Given the description of an element on the screen output the (x, y) to click on. 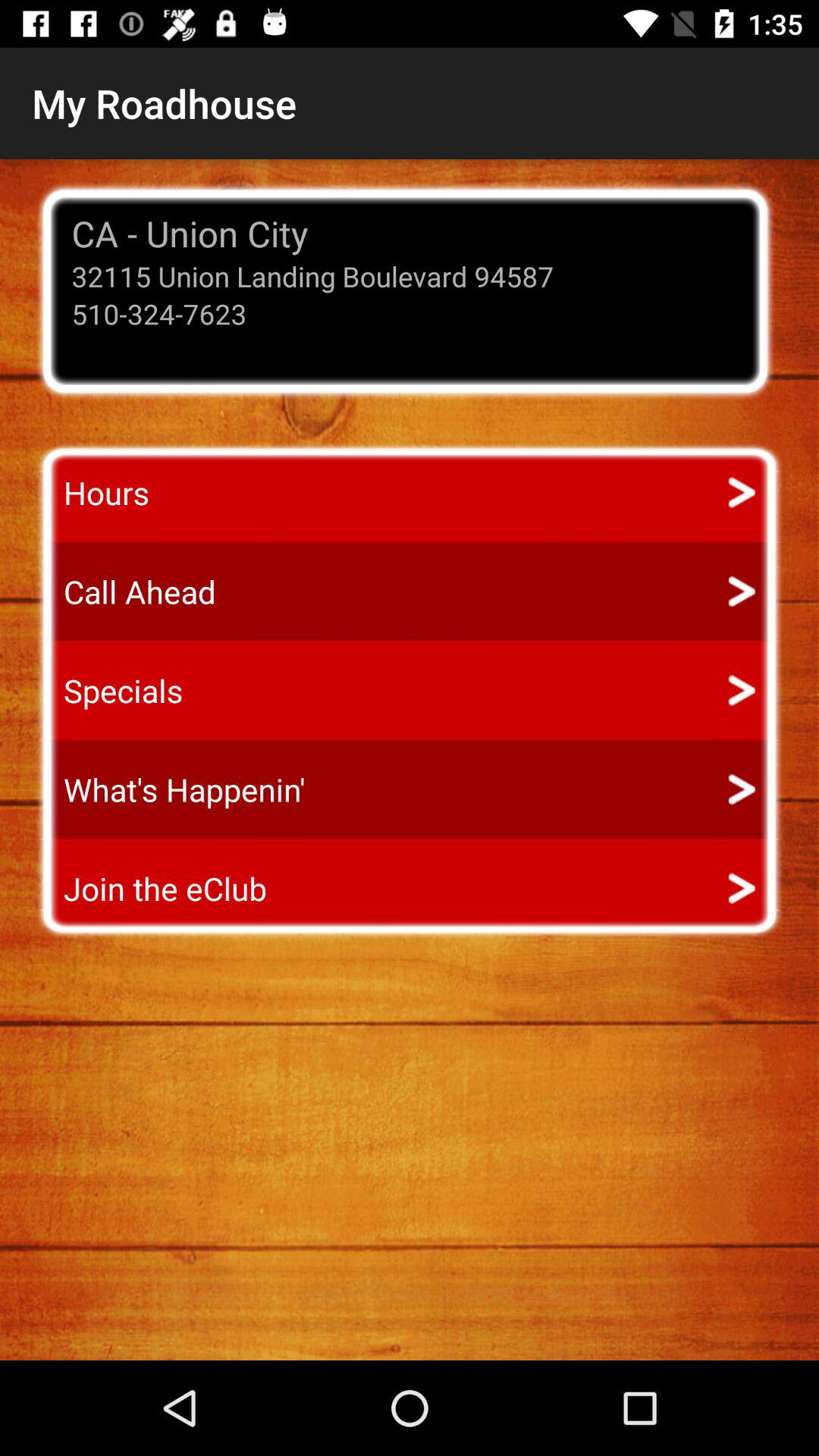
launch join the eclub (150, 888)
